Given the description of an element on the screen output the (x, y) to click on. 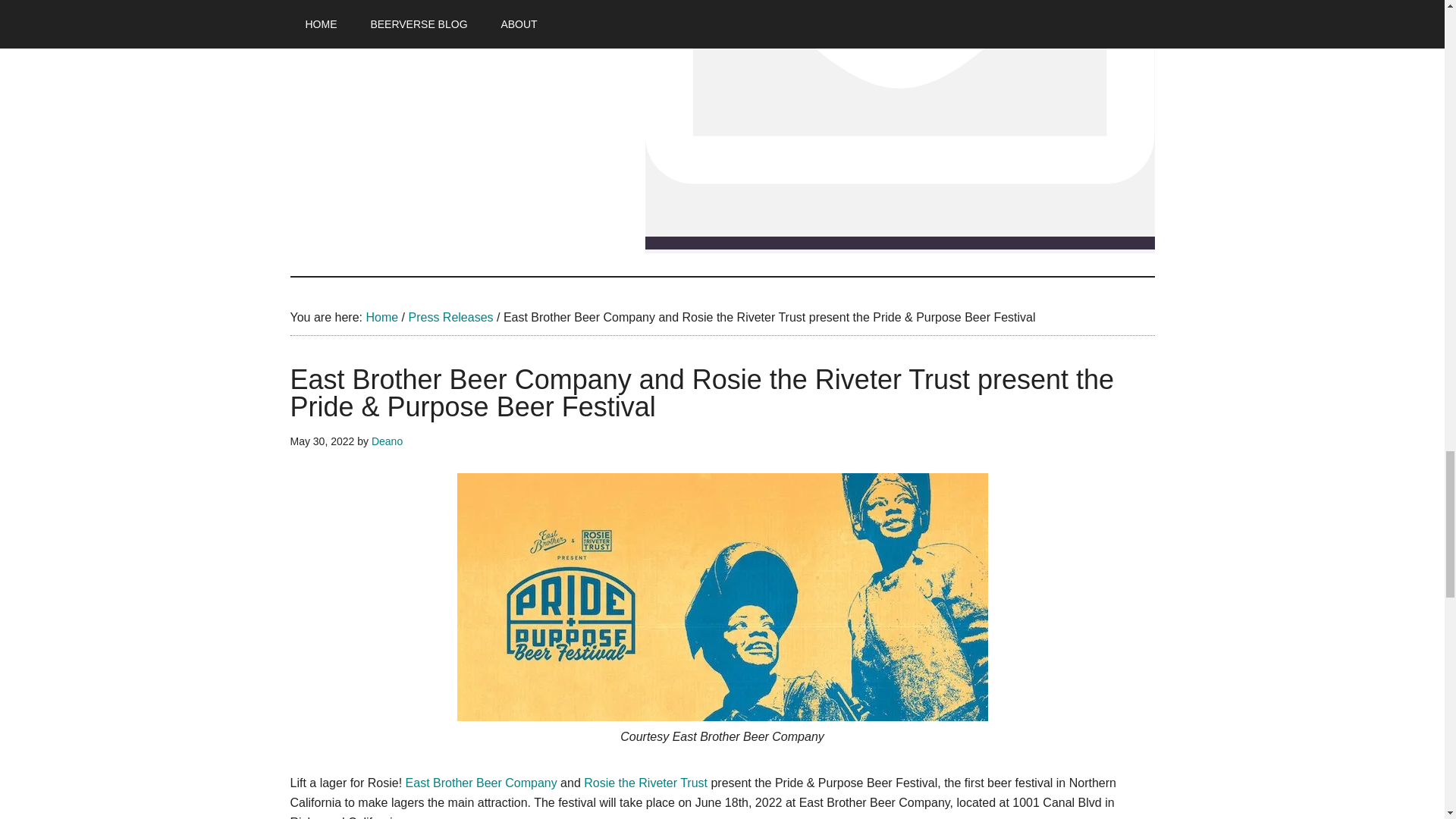
Home (381, 317)
Deano (387, 440)
Rosie the Riveter Trust (645, 782)
Email (899, 242)
Press Releases (450, 317)
East Brother Beer Company (481, 782)
Email (899, 123)
